Given the description of an element on the screen output the (x, y) to click on. 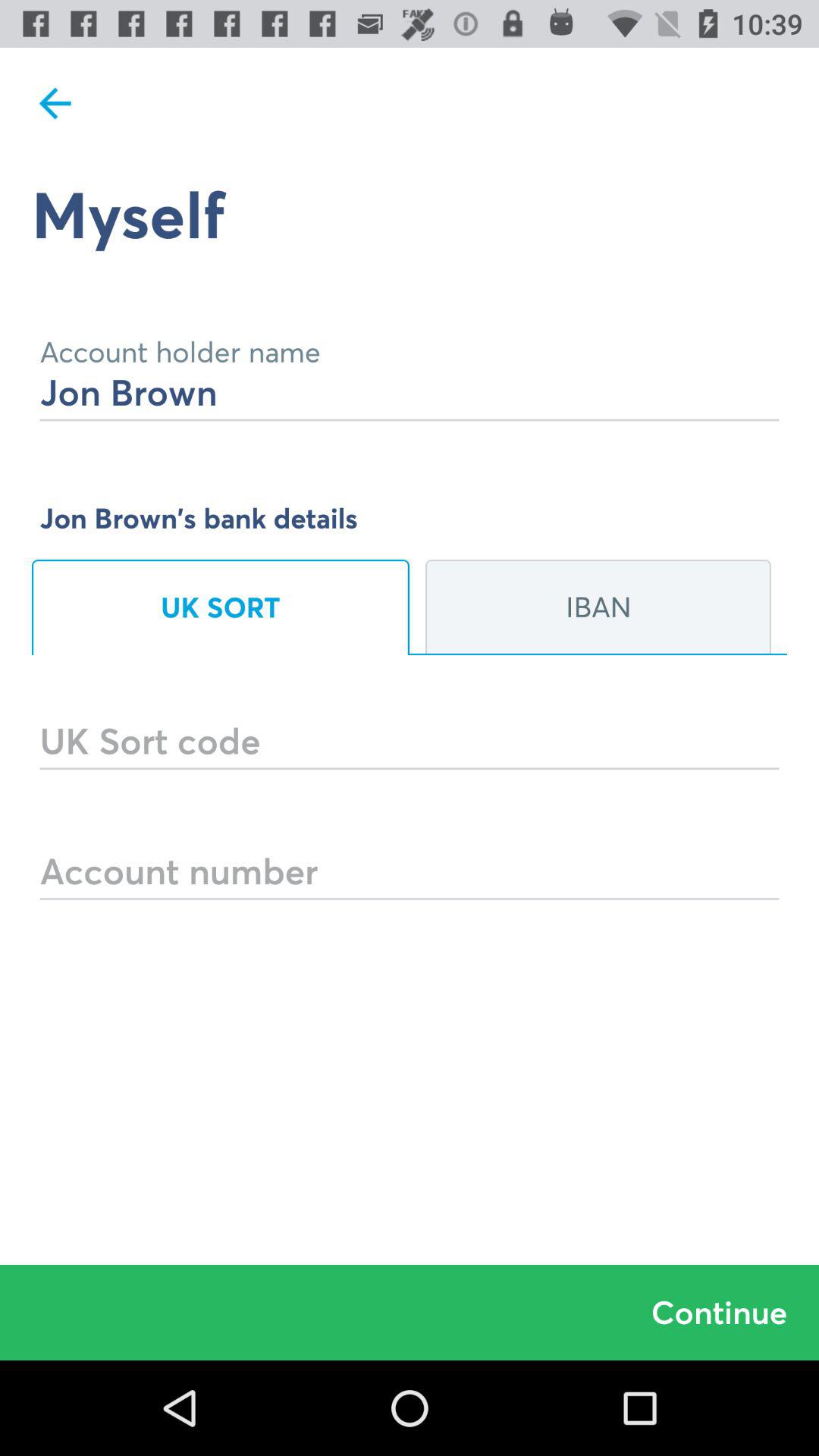
press item at the top left corner (55, 103)
